Given the description of an element on the screen output the (x, y) to click on. 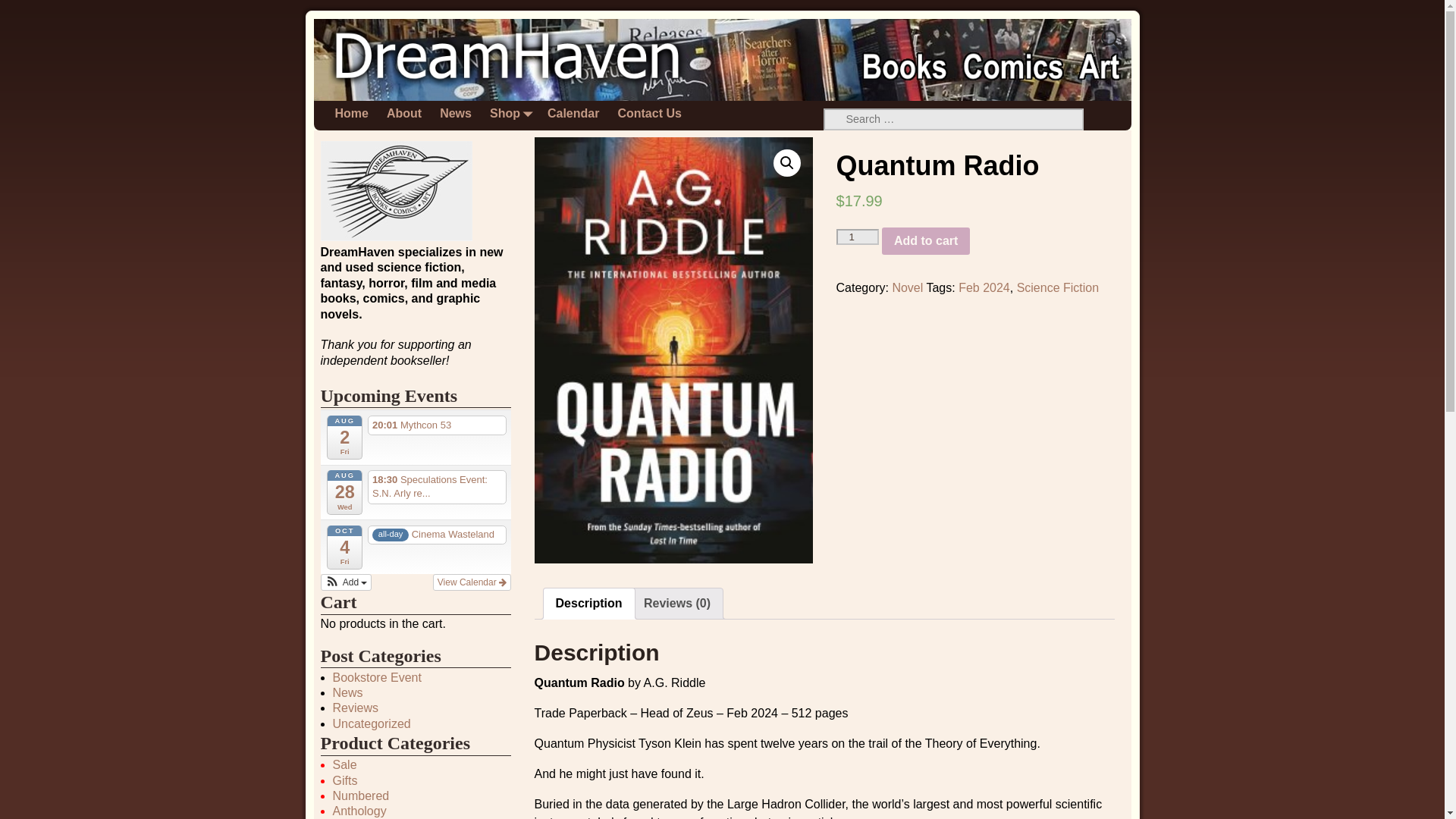
News (455, 113)
Science Fiction (1057, 287)
Calendar (573, 113)
Description (589, 603)
1 (857, 236)
Search for: (954, 119)
Qty (857, 236)
Novel (907, 287)
Contact Us (649, 113)
Add to cart (925, 240)
Feb 2024 (984, 287)
Home (351, 113)
Shop (509, 113)
About (403, 113)
